Given the description of an element on the screen output the (x, y) to click on. 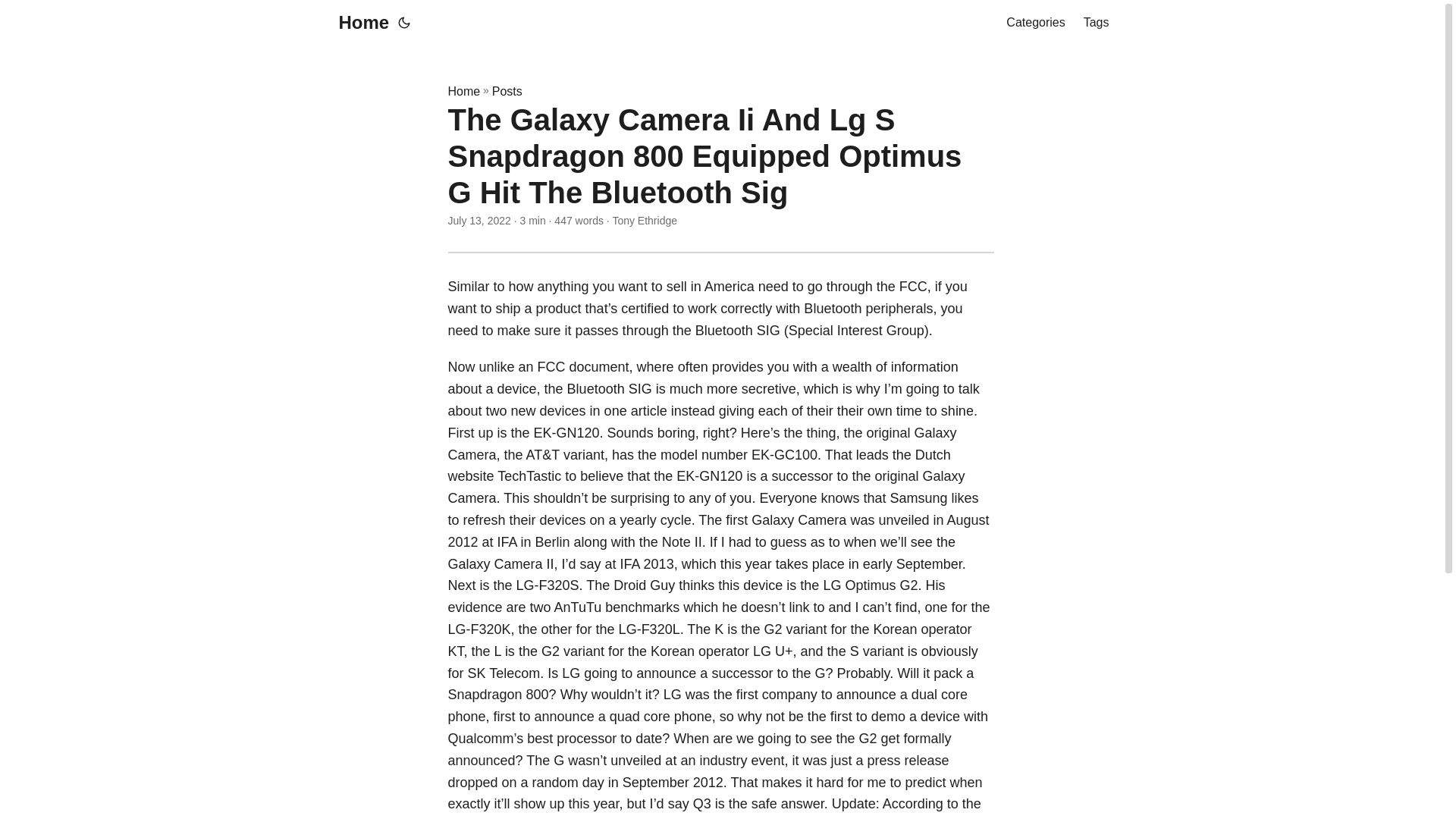
Home (463, 91)
Categories (1035, 22)
Home (359, 22)
Posts (507, 91)
Categories (1035, 22)
